Given the description of an element on the screen output the (x, y) to click on. 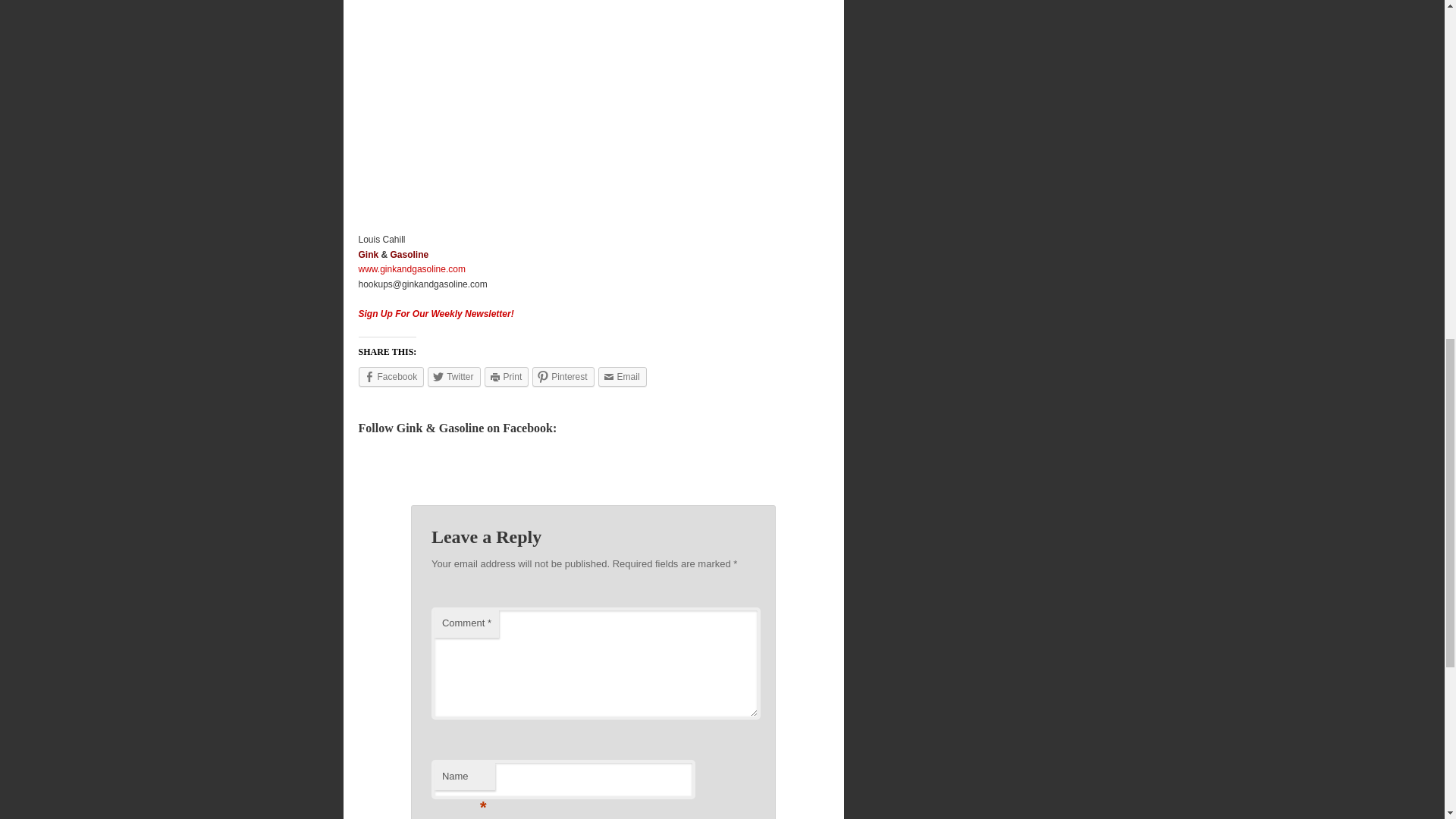
Email (622, 376)
Pinterest (563, 376)
Facebook (390, 376)
Twitter (454, 376)
Share on Facebook (390, 376)
Click to print (506, 376)
Click to email this to a friend (622, 376)
Sign Up For Our Weekly Newsletter! (435, 313)
Click to share on Twitter (454, 376)
Click to share on Pinterest (563, 376)
